Given the description of an element on the screen output the (x, y) to click on. 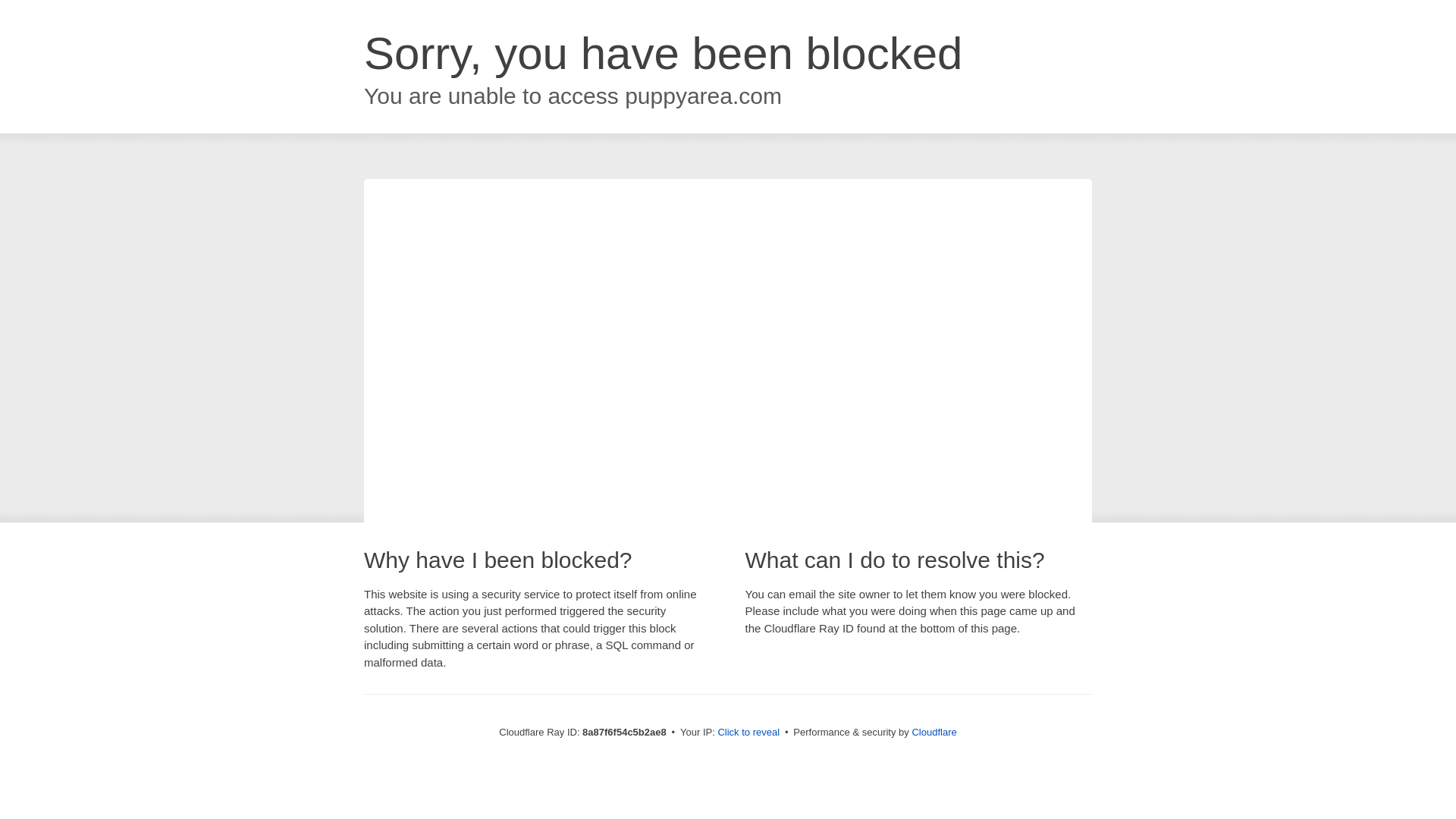
Click to reveal (747, 732)
Cloudflare (933, 731)
